Given the description of an element on the screen output the (x, y) to click on. 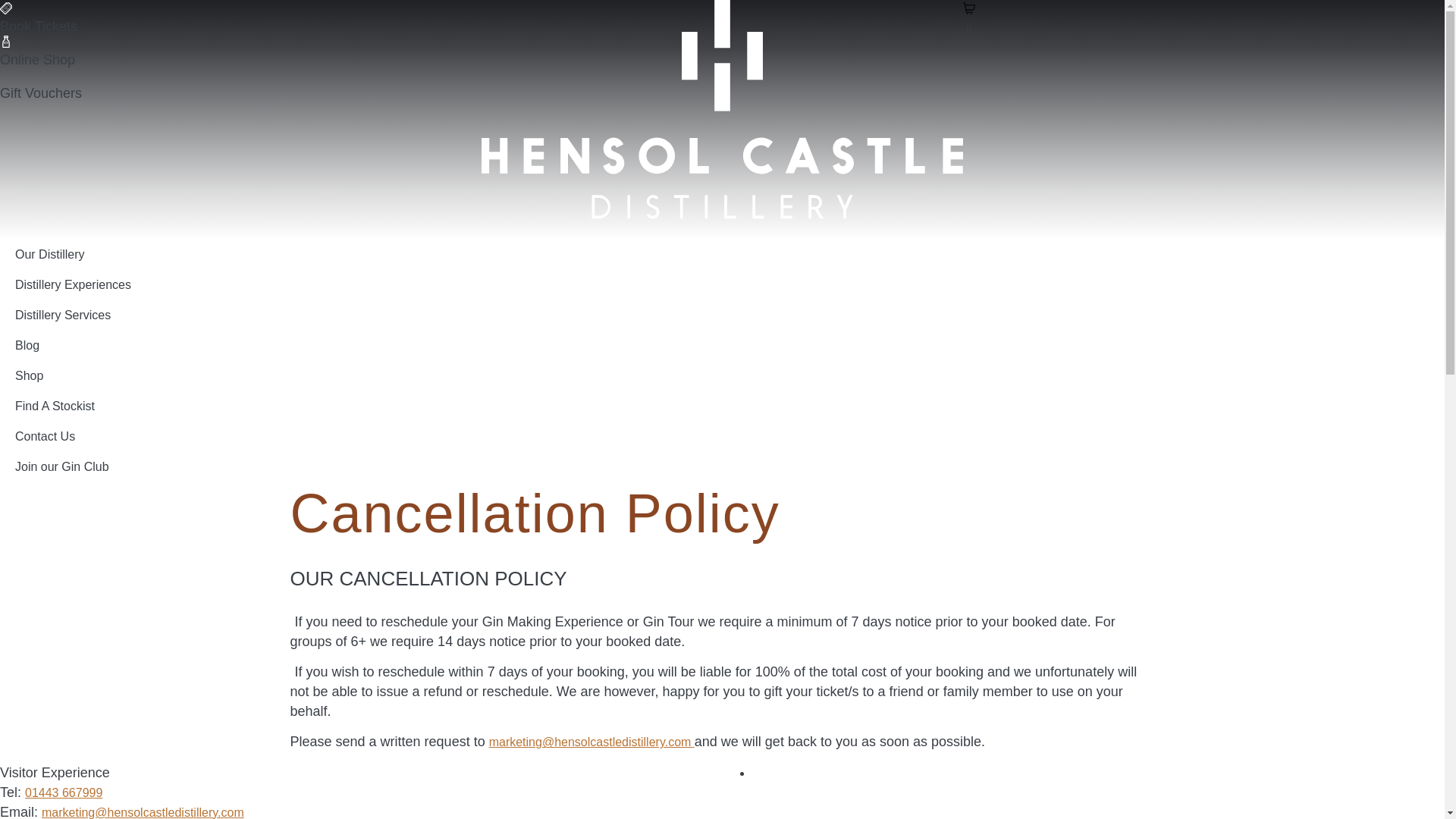
Book Tickets (38, 26)
Gift Vouchers (40, 92)
Online Shop (37, 59)
